Given the description of an element on the screen output the (x, y) to click on. 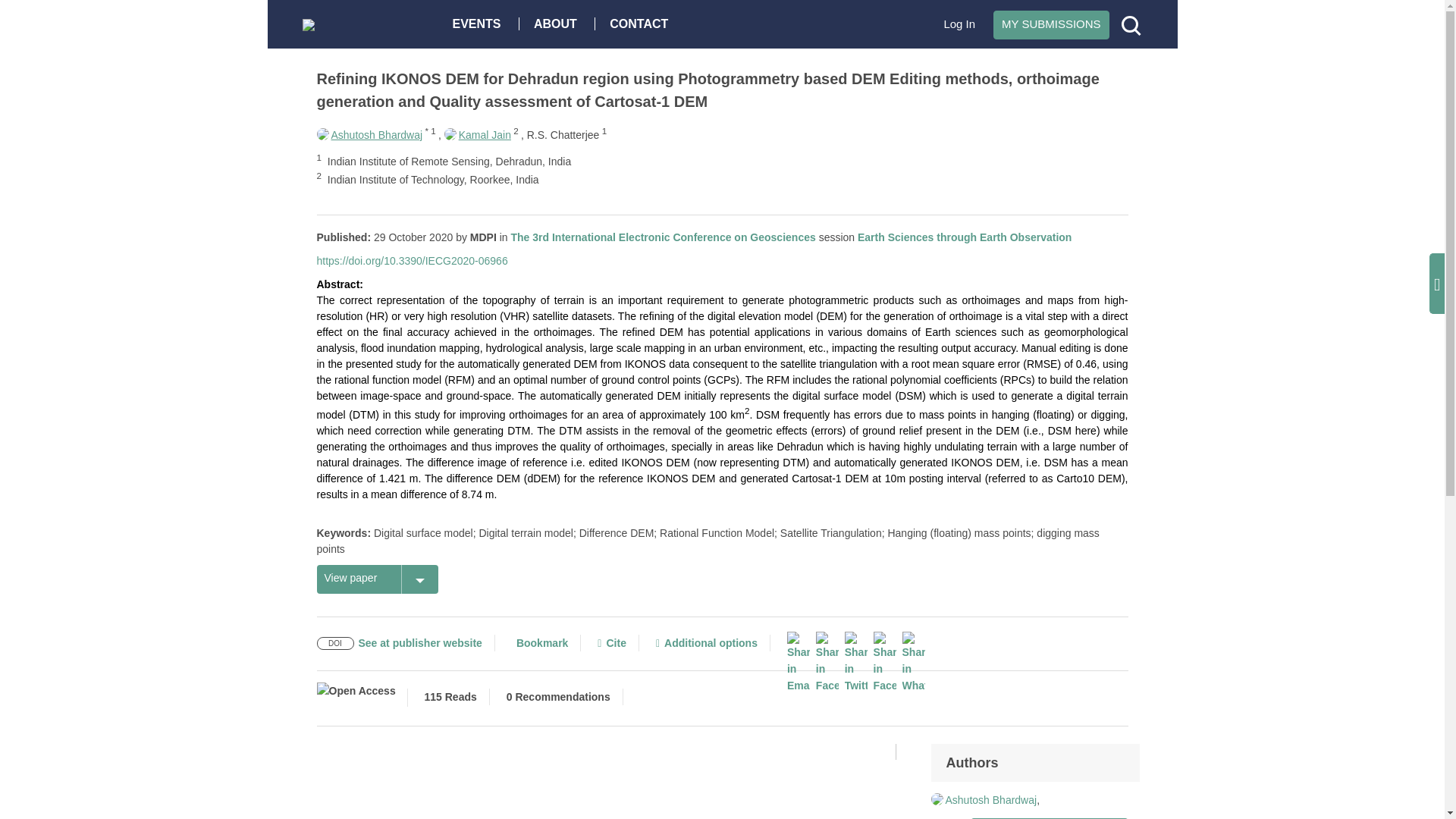
Kamal Jain (477, 134)
CONTACT (641, 23)
ABOUT (558, 23)
The 3rd International Electronic Conference on Geosciences (663, 236)
MY SUBMISSIONS (1050, 24)
EVENTS (480, 23)
Ashutosh Bhardwaj (370, 134)
Earth Sciences through Earth Observation (964, 236)
